Given the description of an element on the screen output the (x, y) to click on. 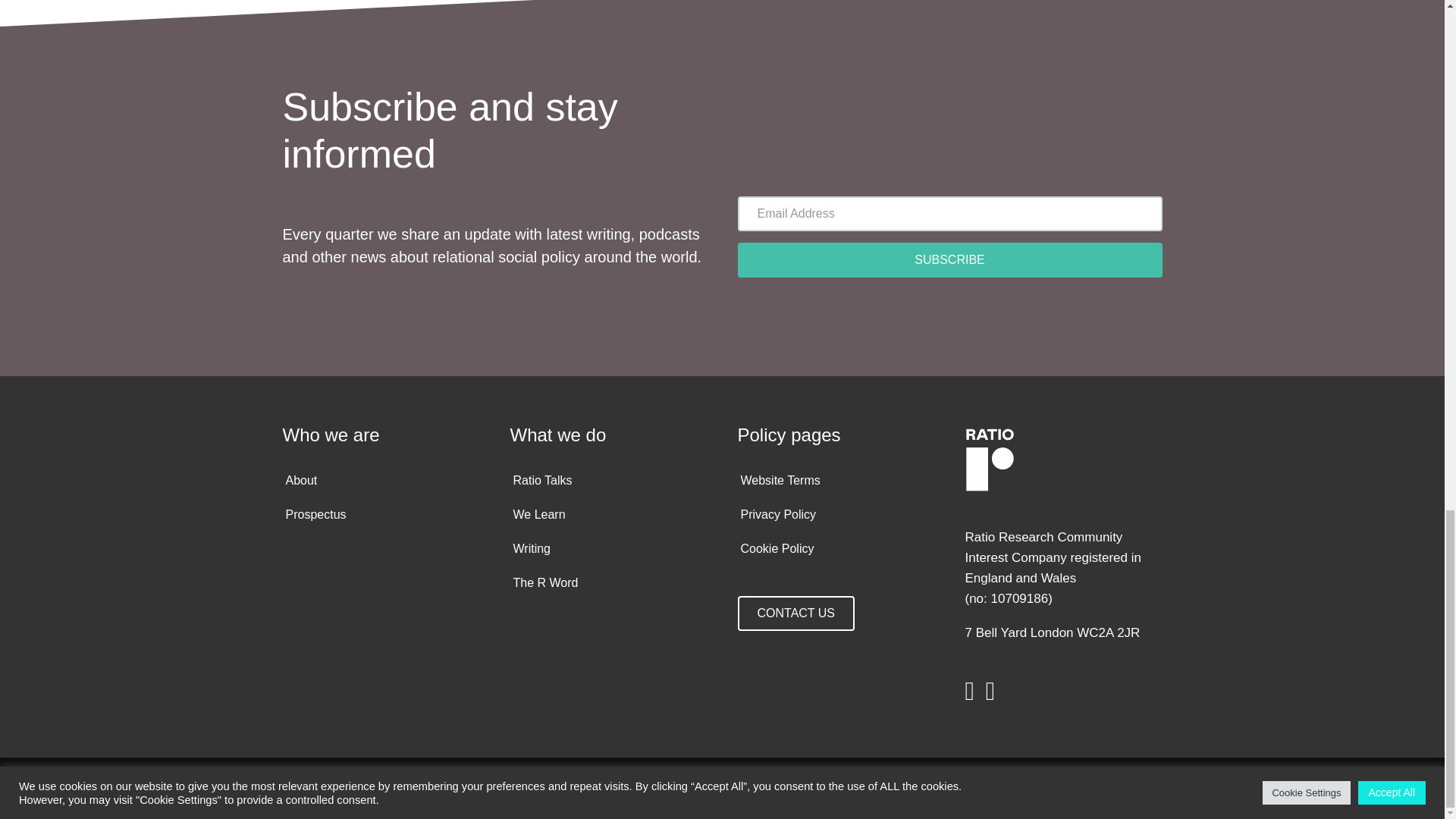
SUBSCRIBE (948, 259)
Prospectus (385, 514)
About (385, 480)
